Given the description of an element on the screen output the (x, y) to click on. 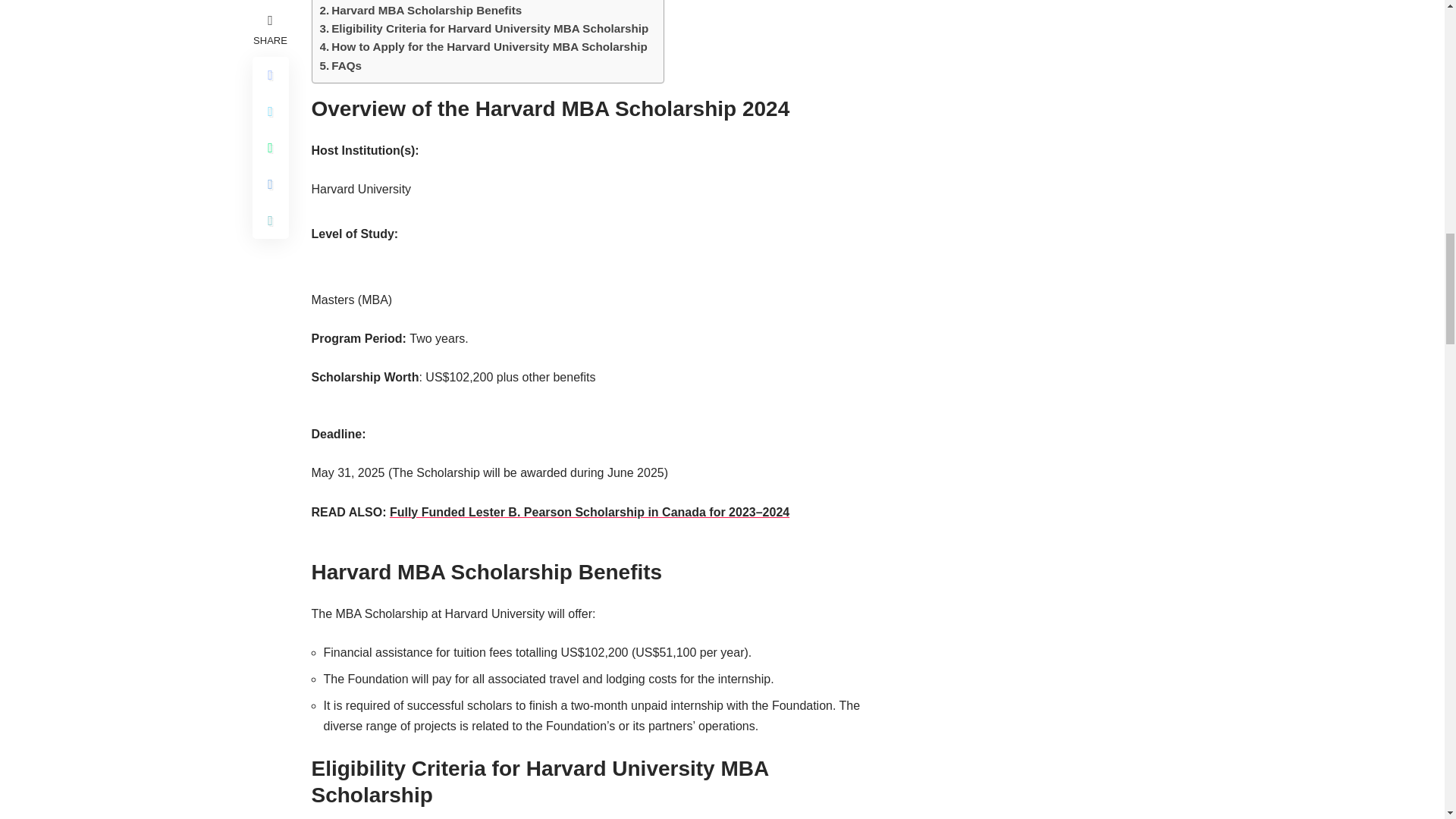
Eligibility Criteria for Harvard University MBA Scholarship (484, 28)
Harvard MBA Scholarship Benefits (421, 10)
How to Apply for the Harvard University MBA Scholarship (483, 46)
